Given the description of an element on the screen output the (x, y) to click on. 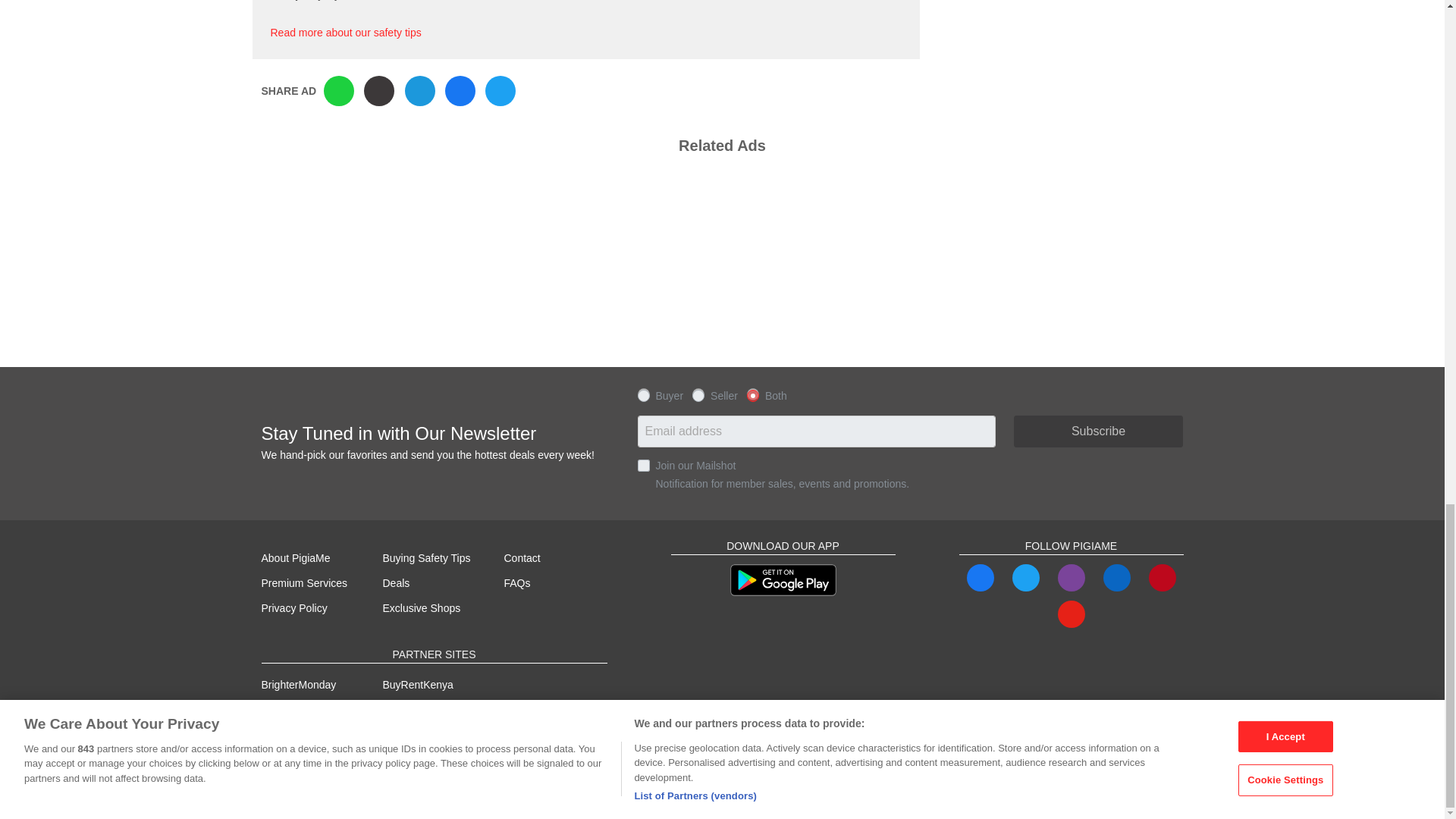
Share via WhatsApp (338, 91)
advertiser (698, 394)
Share via Facebook (460, 91)
Copy link (379, 91)
both (752, 394)
user (643, 394)
Share via Email (419, 91)
Share via Twitter (499, 91)
1 (643, 465)
Read more about our safety tips (344, 32)
